Given the description of an element on the screen output the (x, y) to click on. 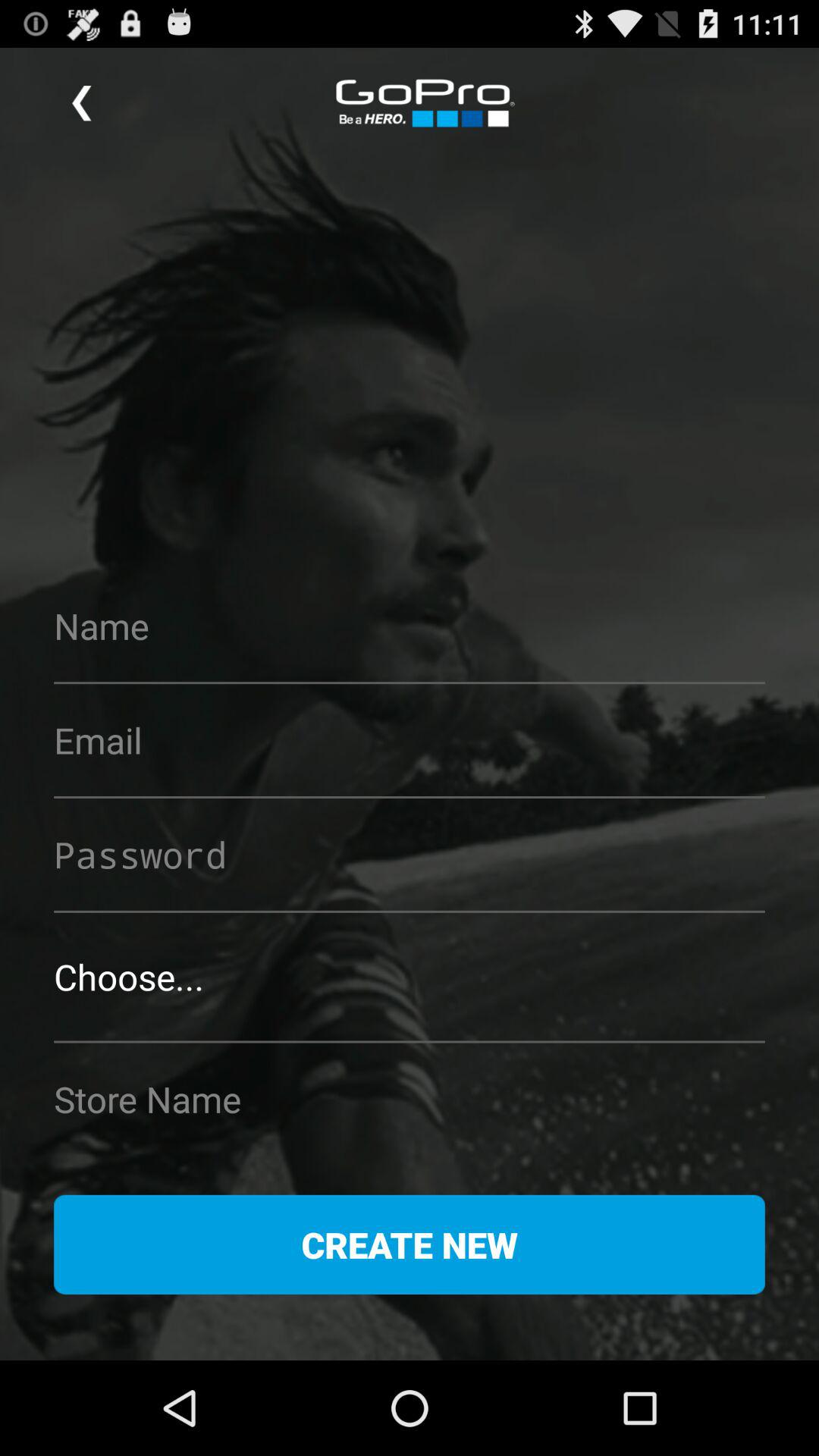
undo (81, 102)
